Given the description of an element on the screen output the (x, y) to click on. 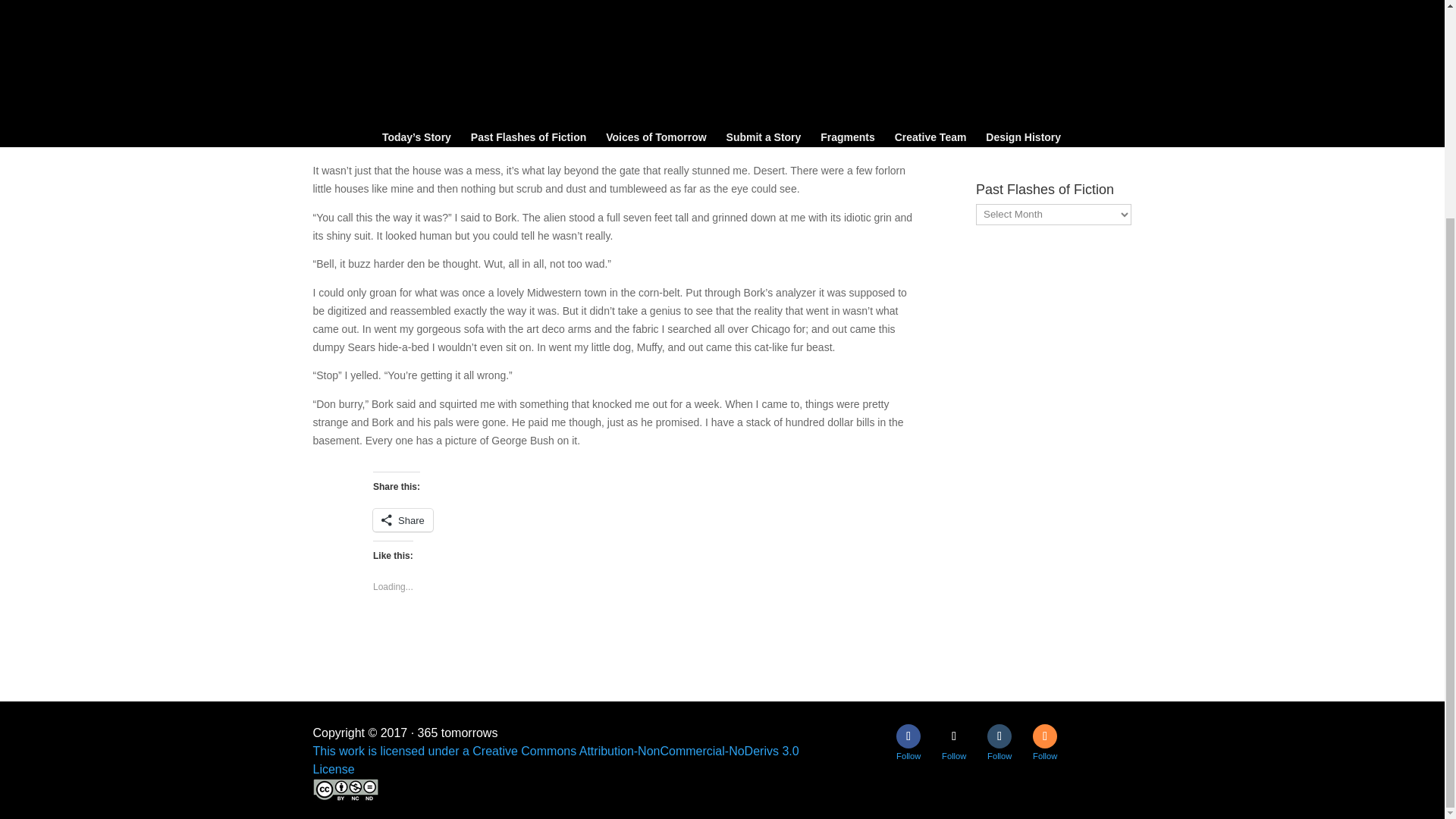
Waves (992, 142)
Follow on Facebook (908, 735)
Follow (1044, 735)
Follow (954, 735)
Follow on RSS (1044, 735)
Follow on Twitter (954, 735)
Follow (999, 735)
Follow (908, 735)
Follow on tumblr (999, 735)
